Given the description of an element on the screen output the (x, y) to click on. 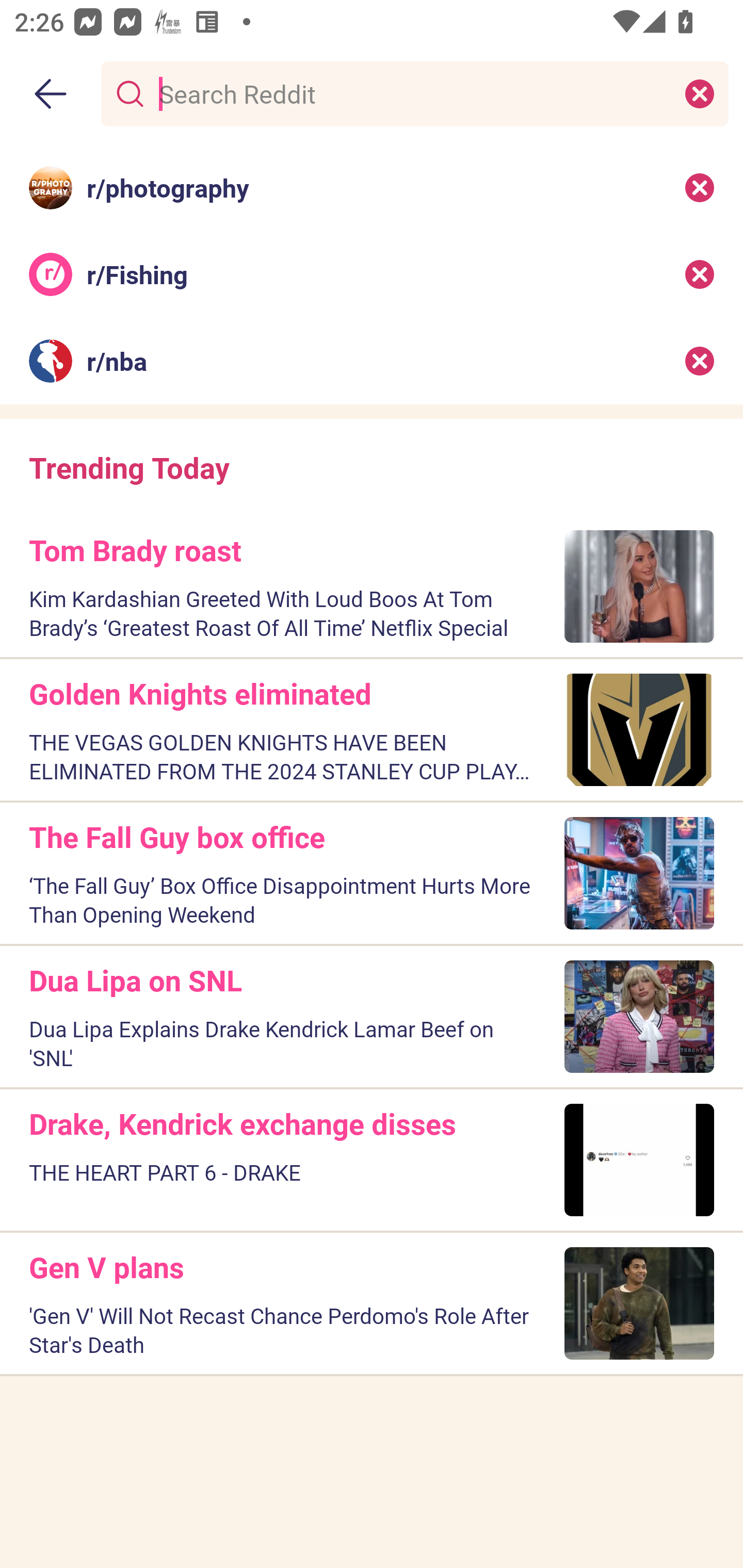
Back (50, 93)
Search Reddit (410, 93)
Clear search (699, 93)
r/photography Recent search: r/photography Remove (371, 187)
Remove (699, 187)
r/Fishing Recent search: r/Fishing Remove (371, 274)
Remove (699, 274)
r/nba Recent search: r/nba Remove (371, 361)
Remove (699, 361)
